Given the description of an element on the screen output the (x, y) to click on. 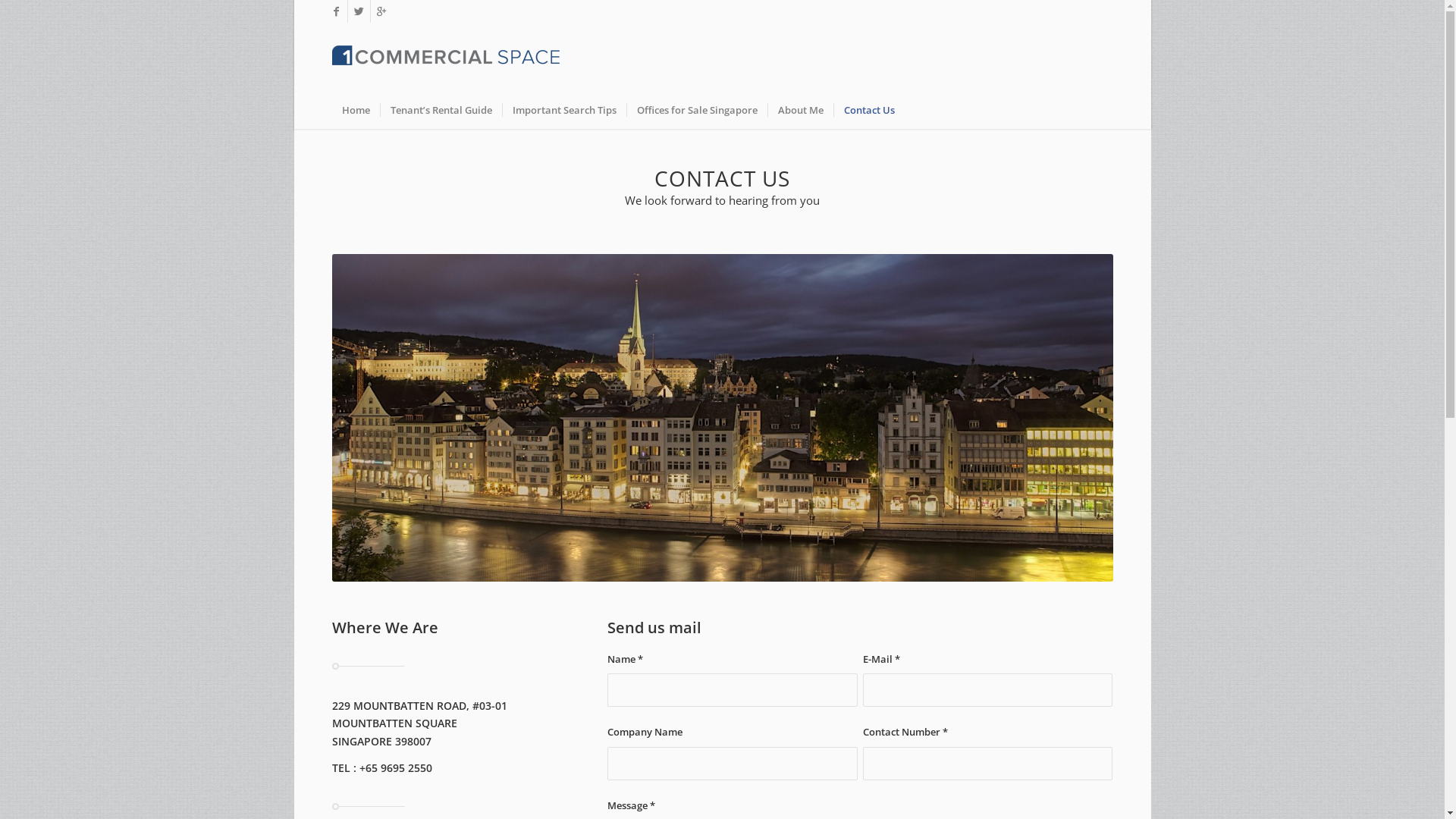
Contact Us Element type: text (867, 109)
Facebook Element type: hover (335, 11)
Home Element type: text (355, 109)
Twitter Element type: hover (358, 11)
About Me Element type: text (800, 109)
Gplus Element type: hover (381, 11)
Offices for Sale Singapore Element type: text (696, 109)
Important Search Tips Element type: text (564, 109)
